Given the description of an element on the screen output the (x, y) to click on. 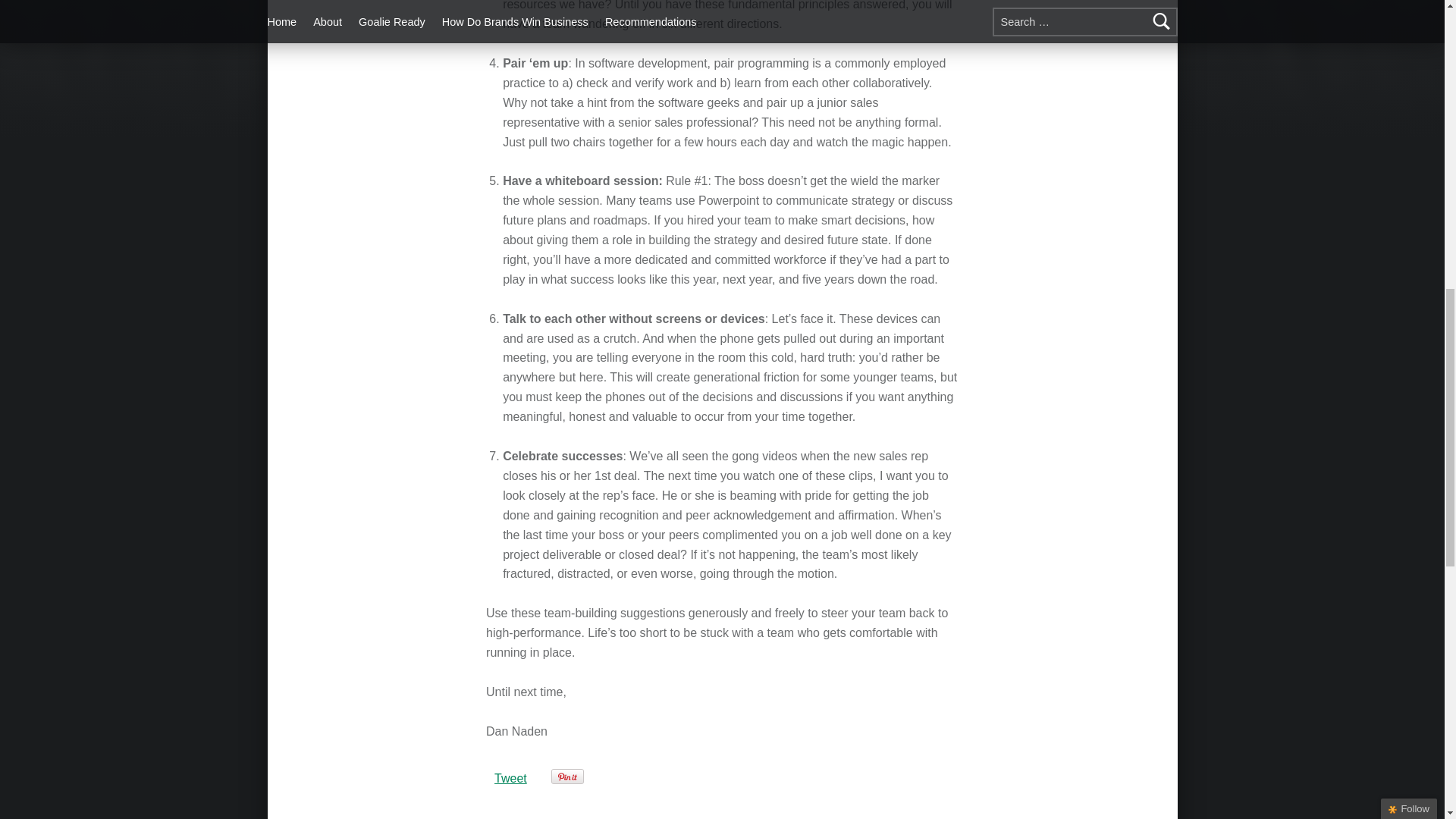
Pin It (567, 776)
Sign me up! (1361, 156)
Sign me up! (1361, 156)
Enter email address (1358, 129)
Follow (1408, 0)
Tweet (511, 778)
